Given the description of an element on the screen output the (x, y) to click on. 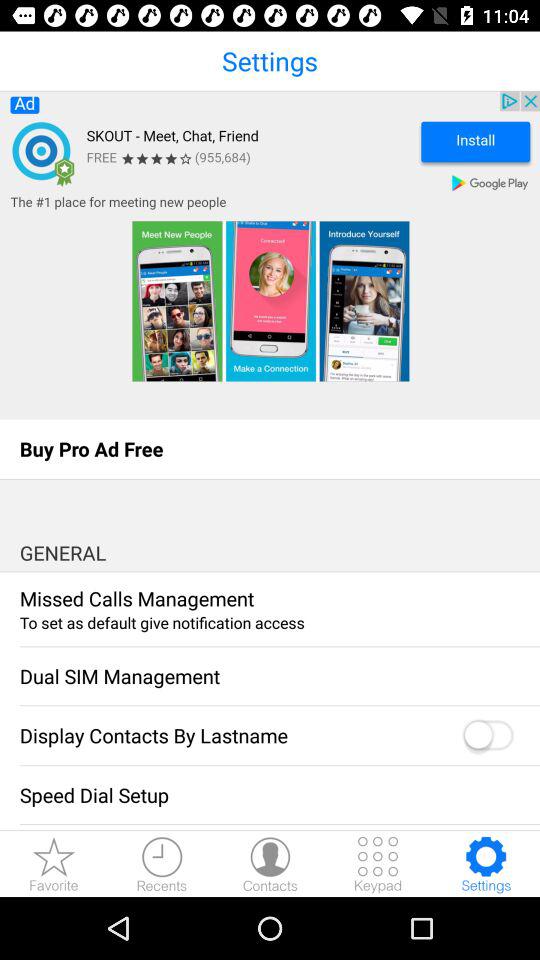
view the advertisement (270, 255)
